Given the description of an element on the screen output the (x, y) to click on. 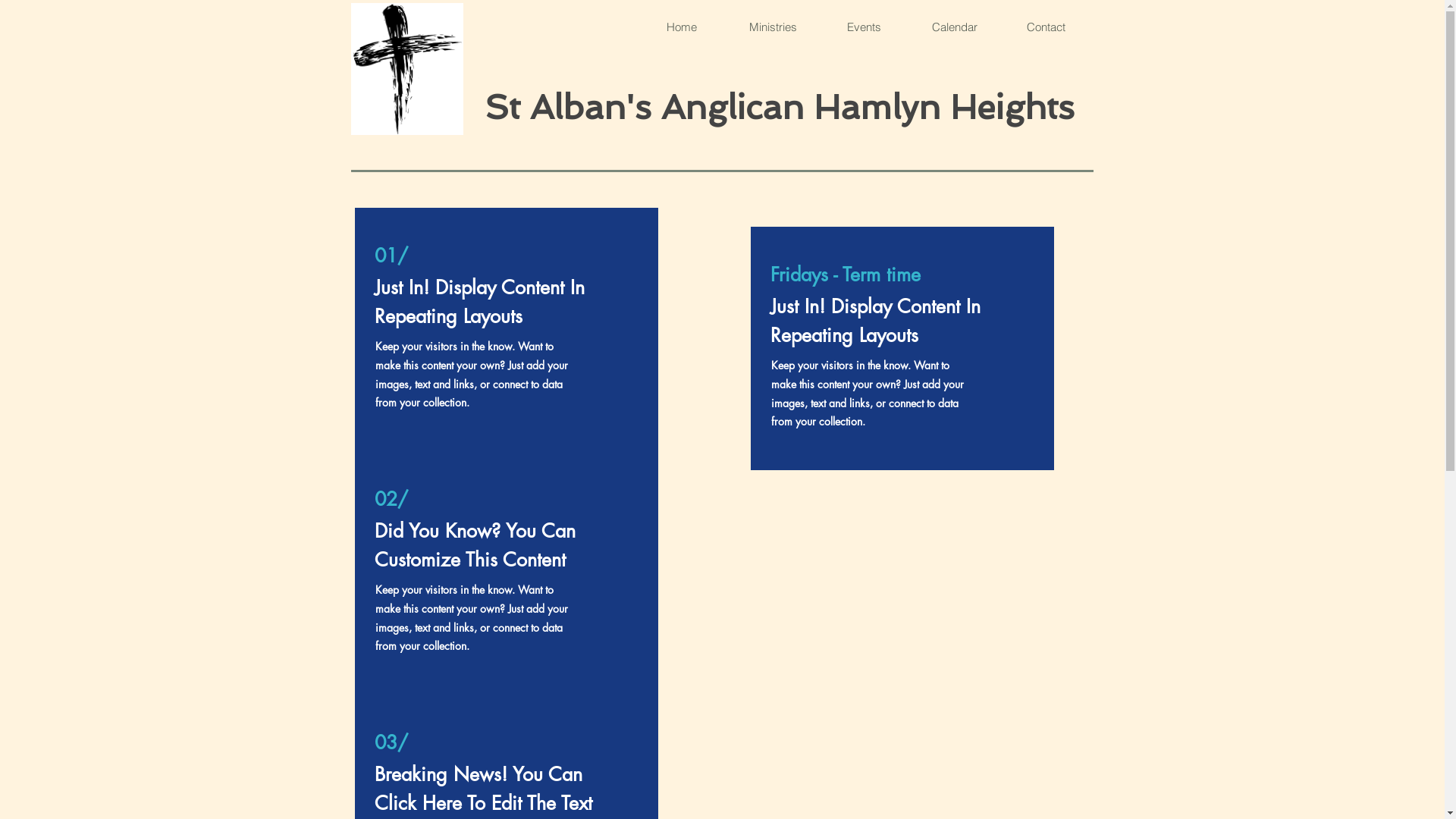
Home Element type: text (680, 26)
Events Element type: text (862, 26)
Ministries Element type: text (771, 26)
Contact Element type: text (1044, 26)
Calendar Element type: text (953, 26)
